Given the description of an element on the screen output the (x, y) to click on. 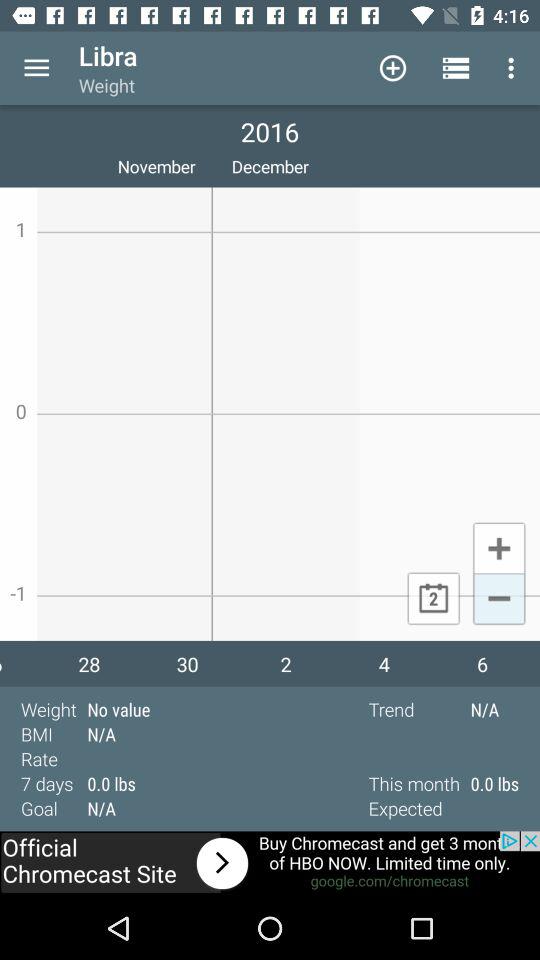
zoom out (498, 599)
